Given the description of an element on the screen output the (x, y) to click on. 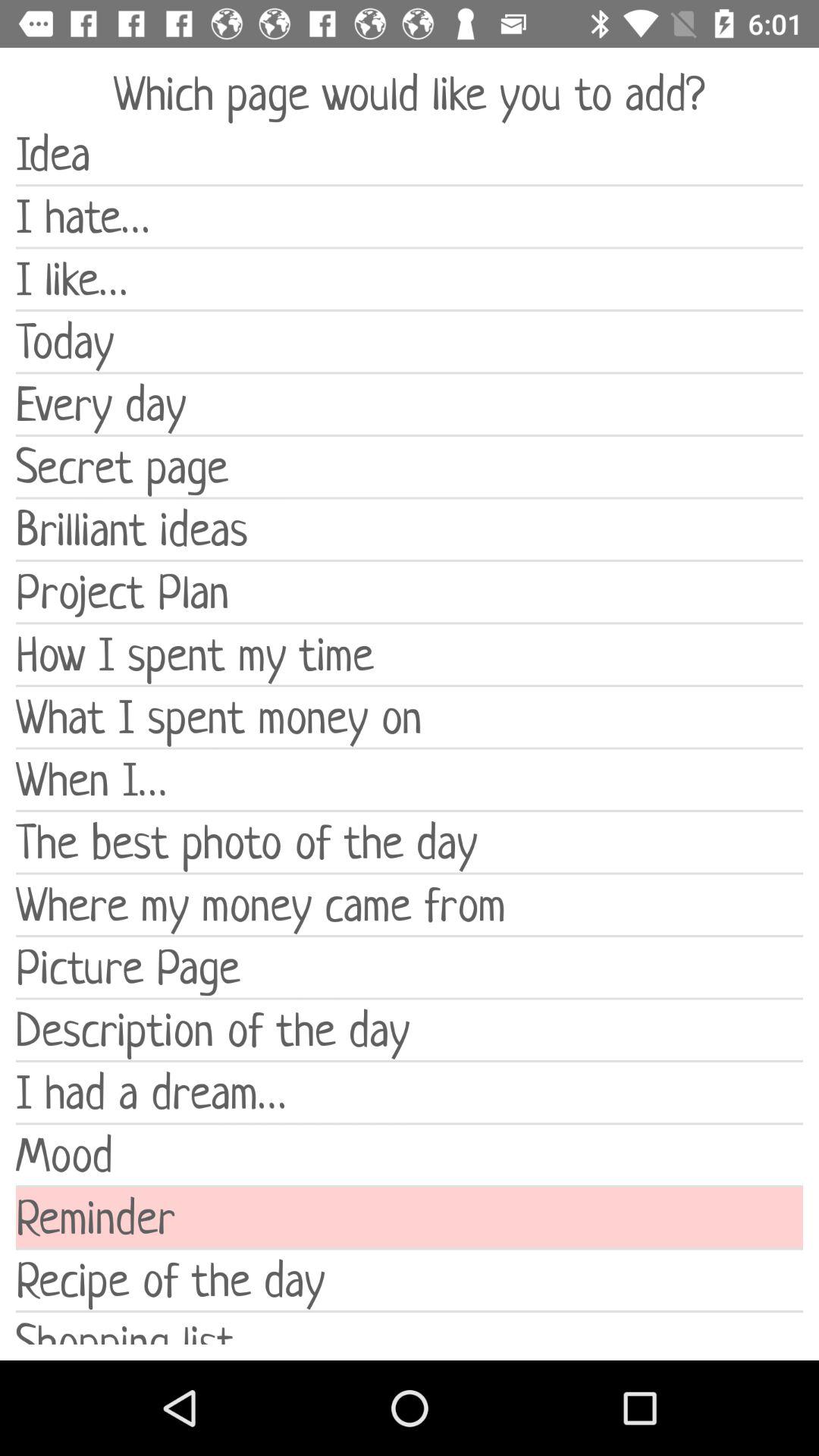
swipe until i had a (409, 1092)
